Given the description of an element on the screen output the (x, y) to click on. 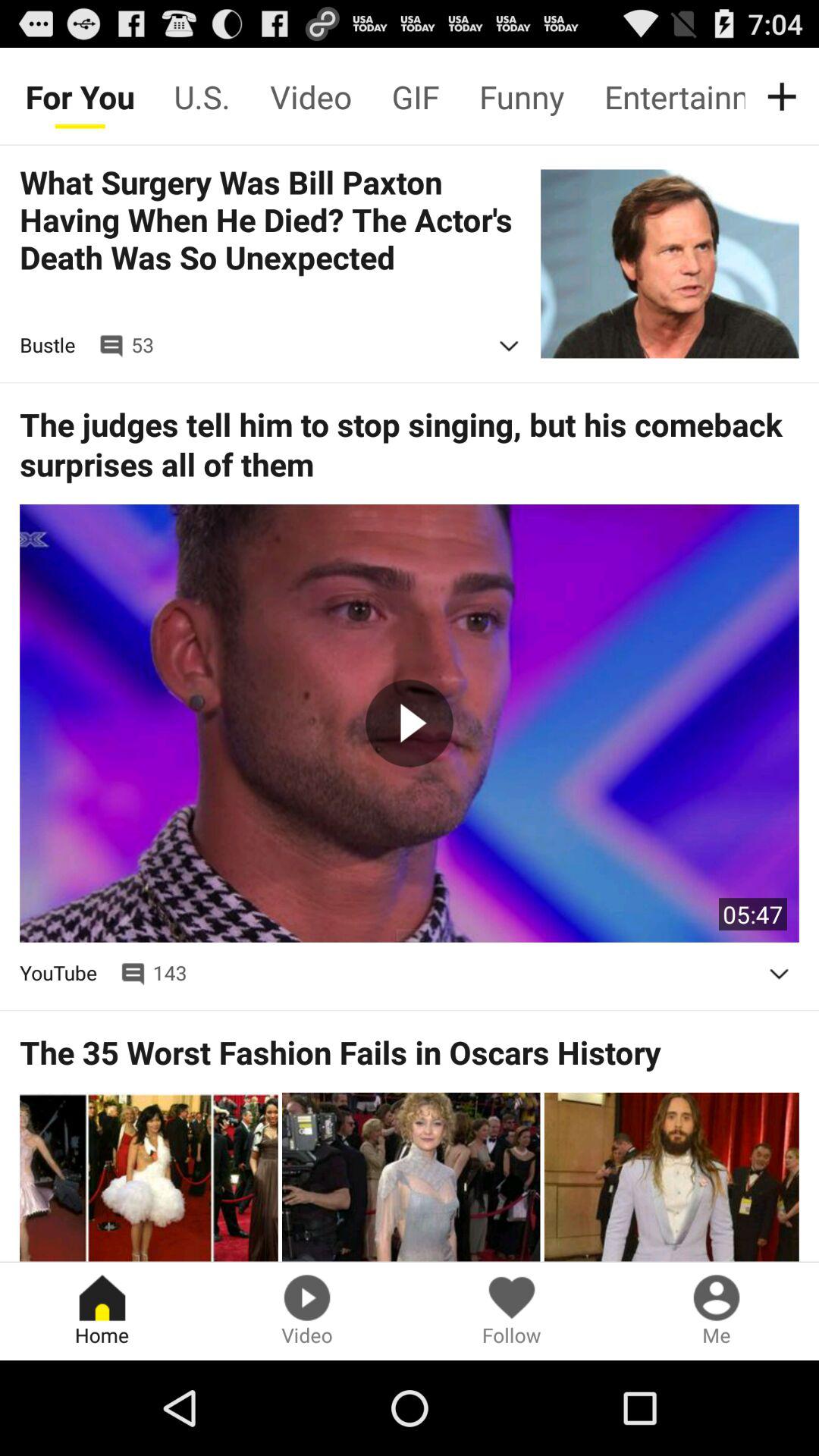
launch the icon to the right of the entertainment (785, 96)
